Given the description of an element on the screen output the (x, y) to click on. 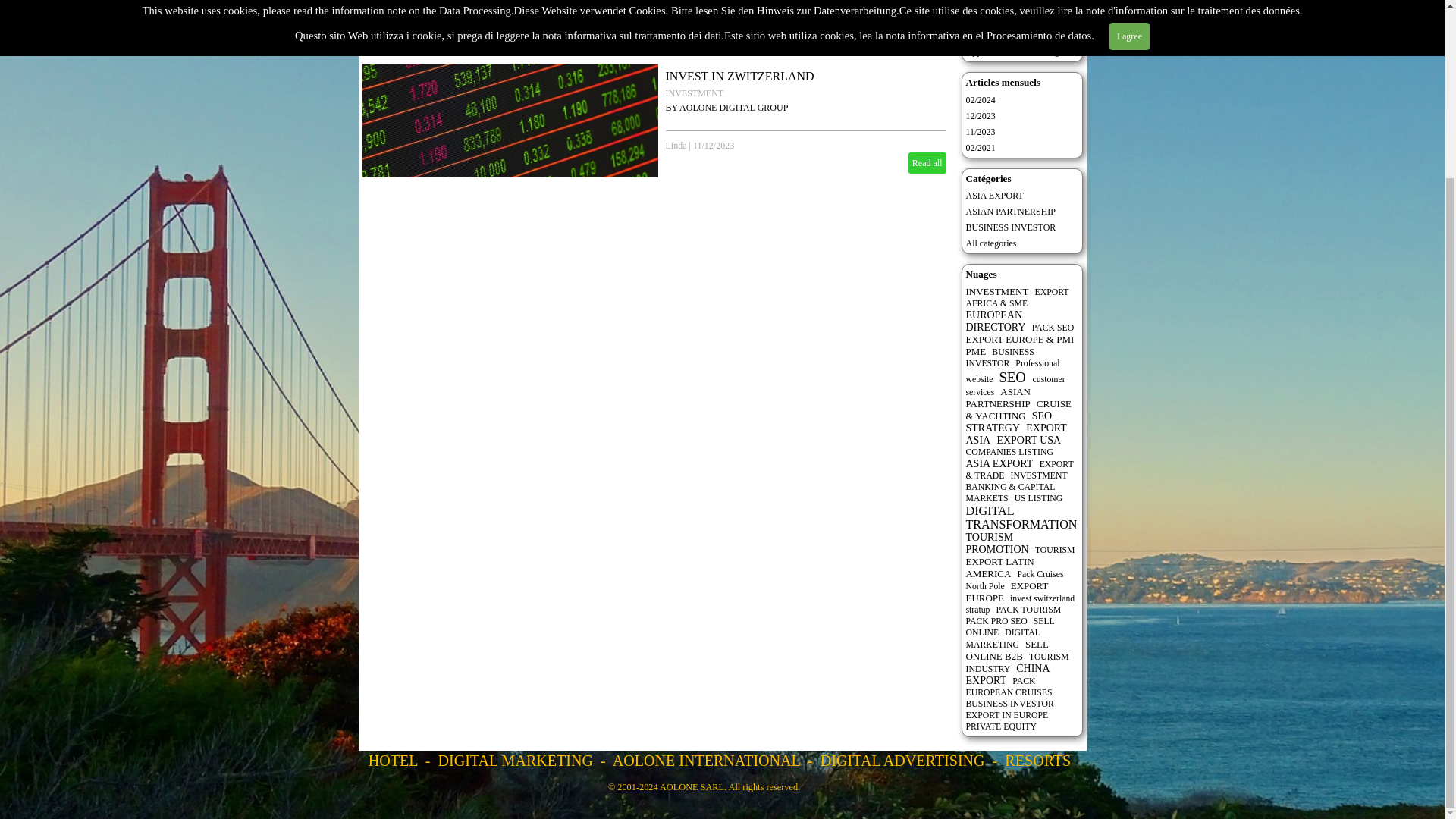
INVEST IN ZWITZERLAND (739, 75)
INVESTMENT (694, 92)
Jane Lee (681, 23)
Read all (927, 162)
PACK PRO TOURISM (1009, 3)
Read all (927, 41)
Linda (676, 145)
